Given the description of an element on the screen output the (x, y) to click on. 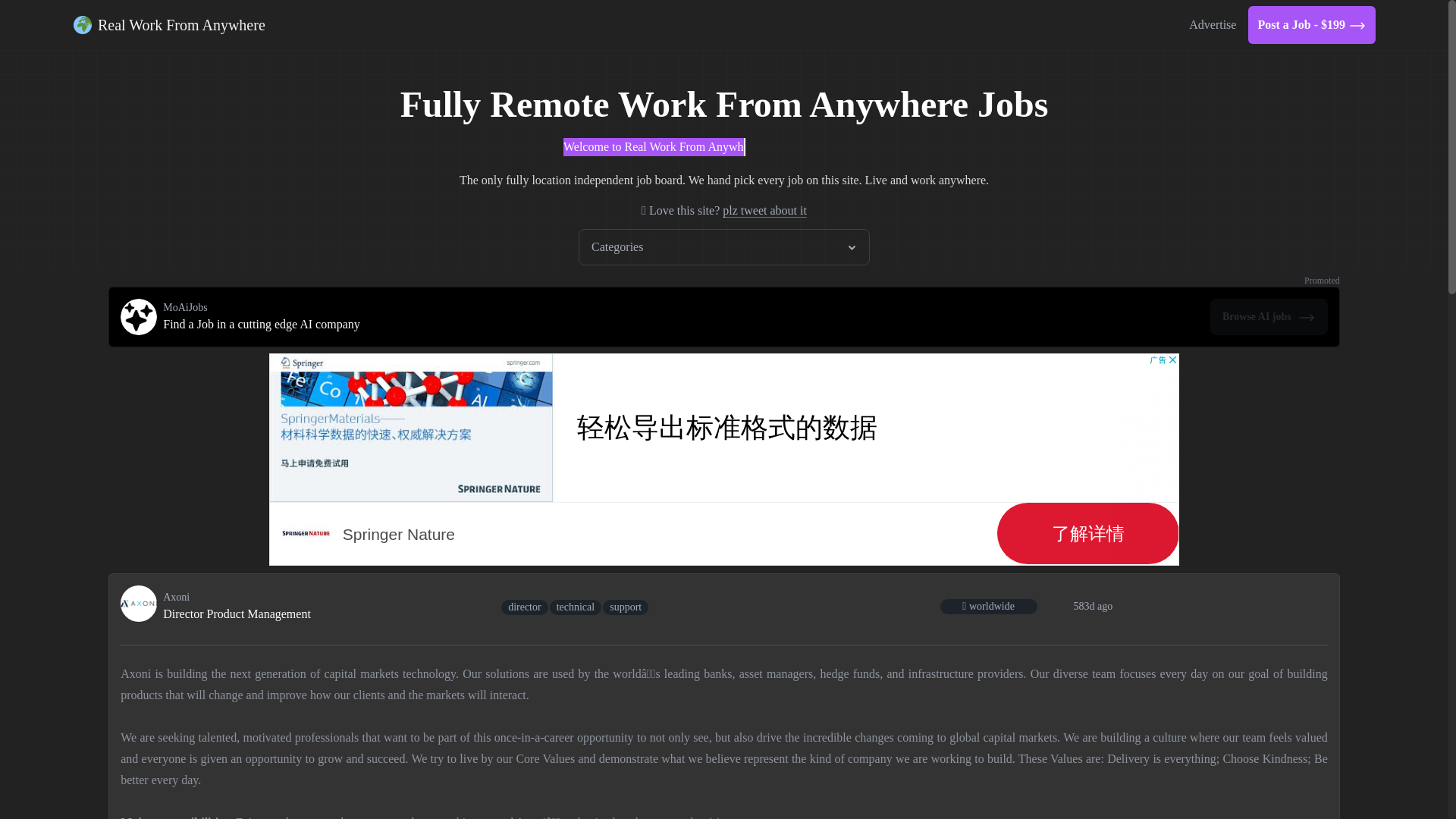
plz tweet about it (764, 210)
Real Work From Anywhere (169, 24)
support (624, 604)
Browse AI jobs (1268, 316)
Advertise (1211, 24)
technical (576, 604)
Promoted (1321, 280)
director (524, 604)
